Given the description of an element on the screen output the (x, y) to click on. 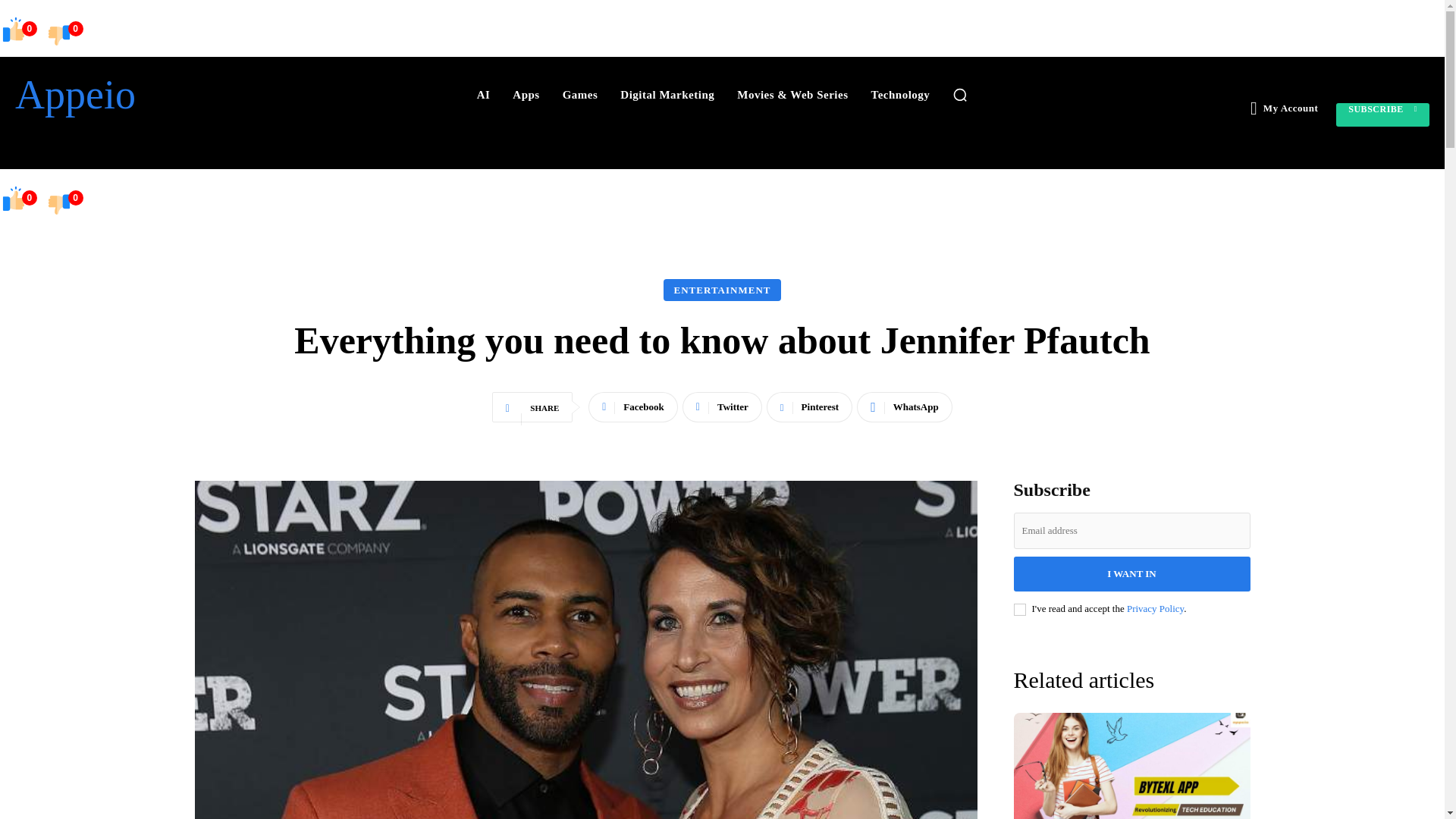
Subscribe (1382, 114)
Digital Marketing (667, 94)
Technology (900, 94)
Pinterest (809, 407)
SUBSCRIBE (1382, 114)
Facebook (633, 407)
Appeio (127, 94)
Twitter (721, 407)
WhatsApp (904, 407)
Appeio (127, 94)
